Given the description of an element on the screen output the (x, y) to click on. 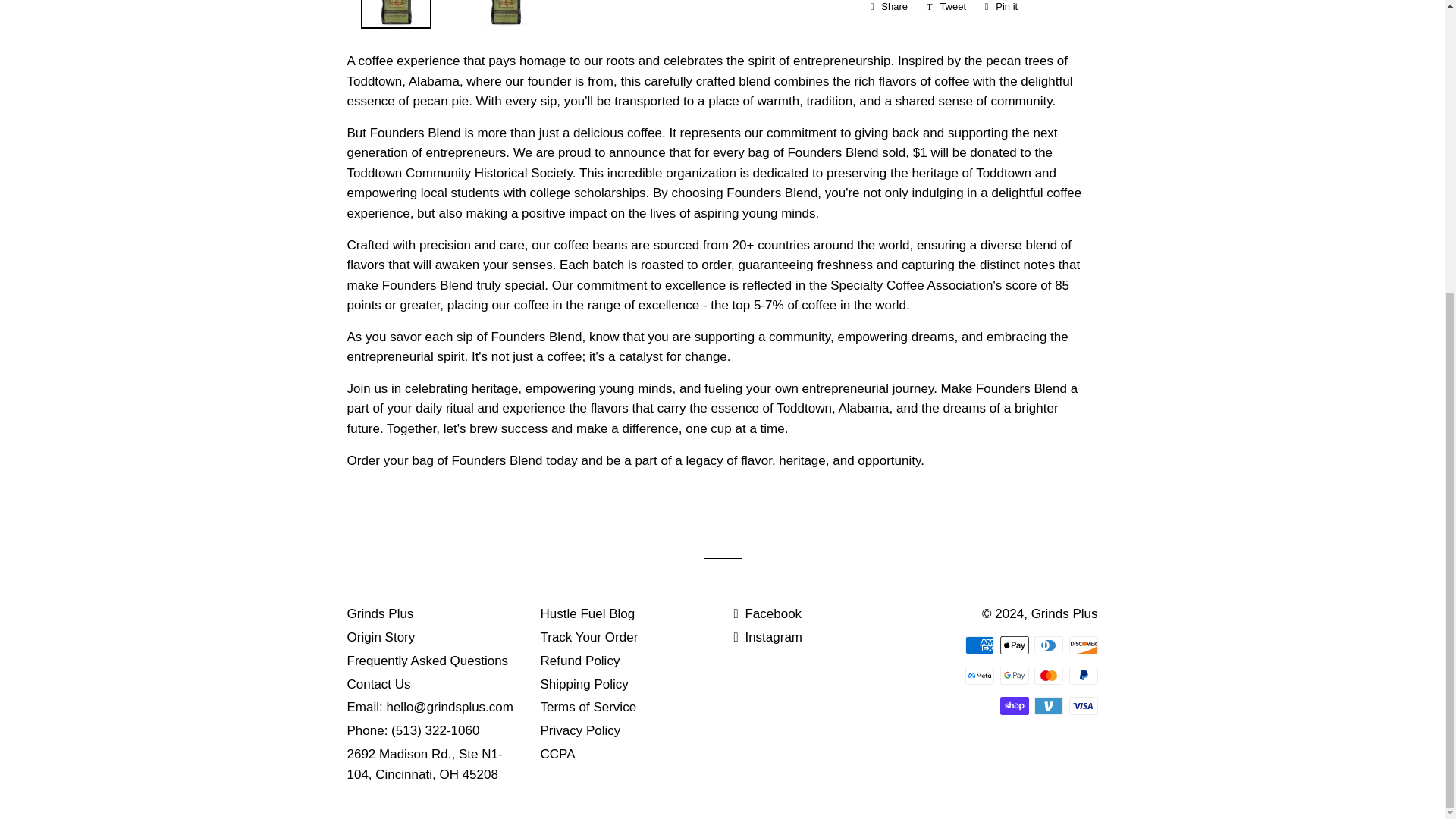
Privacy Policy (580, 730)
Grinds Plus on Facebook (767, 613)
PayPal (946, 9)
Share on Facebook (1082, 675)
Terms of Service (889, 9)
Frequently Asked Questions (588, 707)
Meta Pay (427, 660)
Origin Story (979, 675)
2692 Madison Rd., Ste N1-104, Cincinnati, OH 45208 (380, 636)
Pin on Pinterest (424, 764)
Track Your Order (1000, 9)
Shipping Policy (588, 636)
Venmo (583, 684)
American Express (1047, 705)
